Given the description of an element on the screen output the (x, y) to click on. 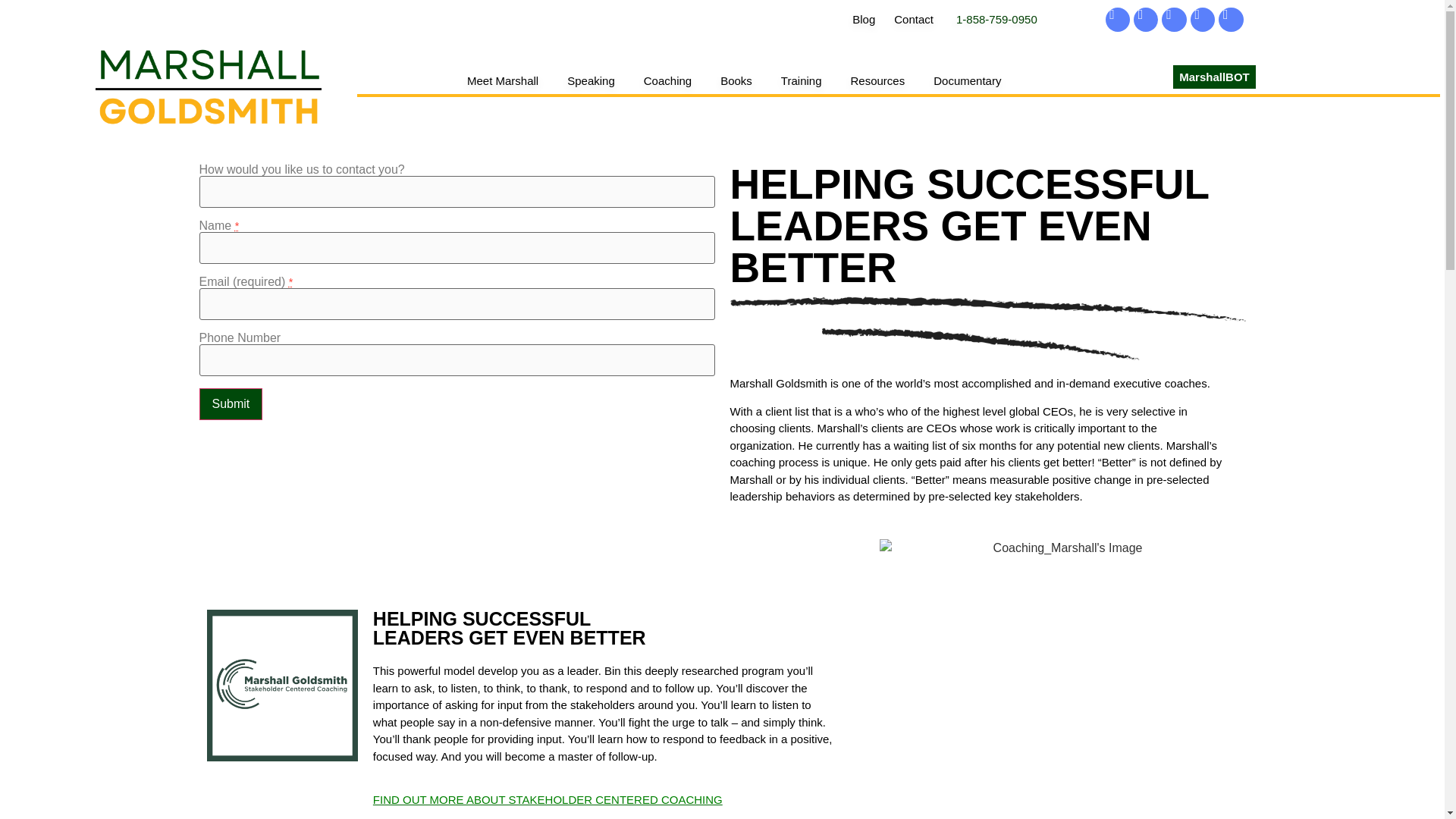
Resources (876, 80)
numbers, dashes, pluses, periods, and parentheses (456, 359)
Submit (230, 404)
Documentary (967, 80)
Blog (863, 19)
Contact (913, 19)
Speaking (590, 80)
Books (735, 80)
Coaching (668, 80)
1-858-759-0950 (996, 19)
